Given the description of an element on the screen output the (x, y) to click on. 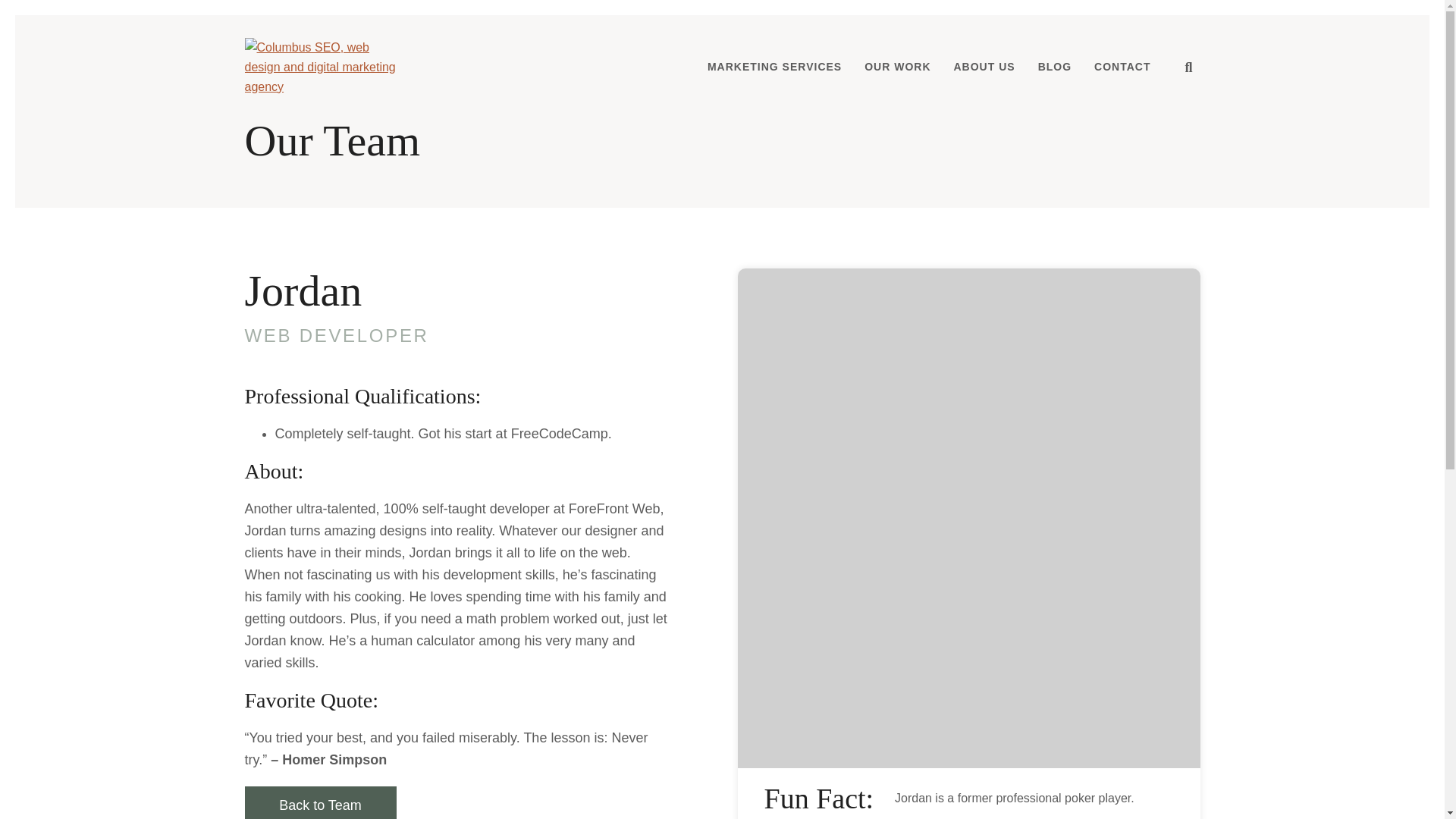
CONTACT (1122, 66)
BLOG (1054, 66)
MARKETING SERVICES (774, 66)
ABOUT US (984, 66)
Back to Team (320, 802)
ForeFront Web (321, 66)
OUR WORK (897, 66)
